Given the description of an element on the screen output the (x, y) to click on. 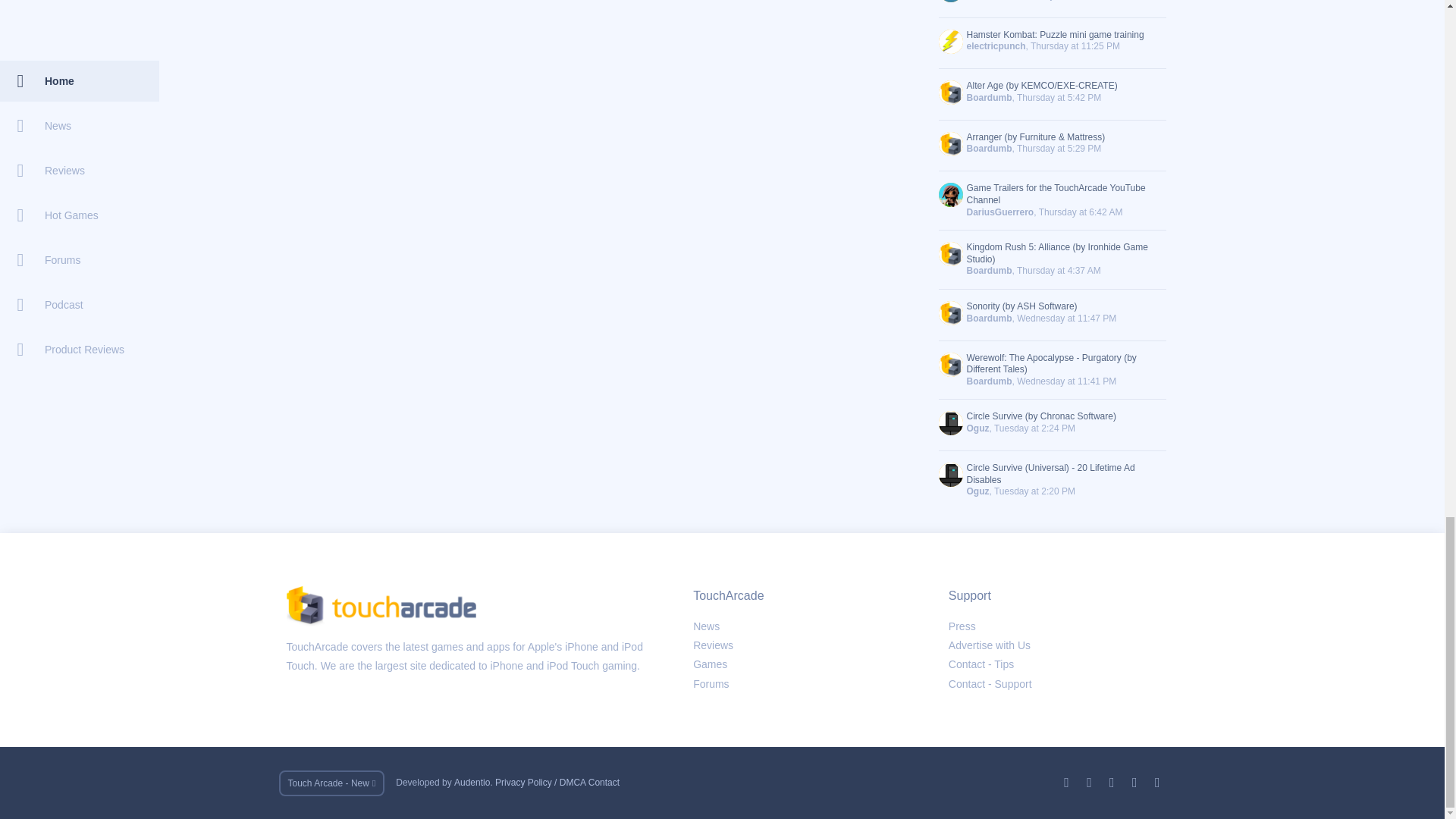
Thursday at 5:42 PM (1058, 97)
Thursday at 11:25 PM (1074, 45)
